Given the description of an element on the screen output the (x, y) to click on. 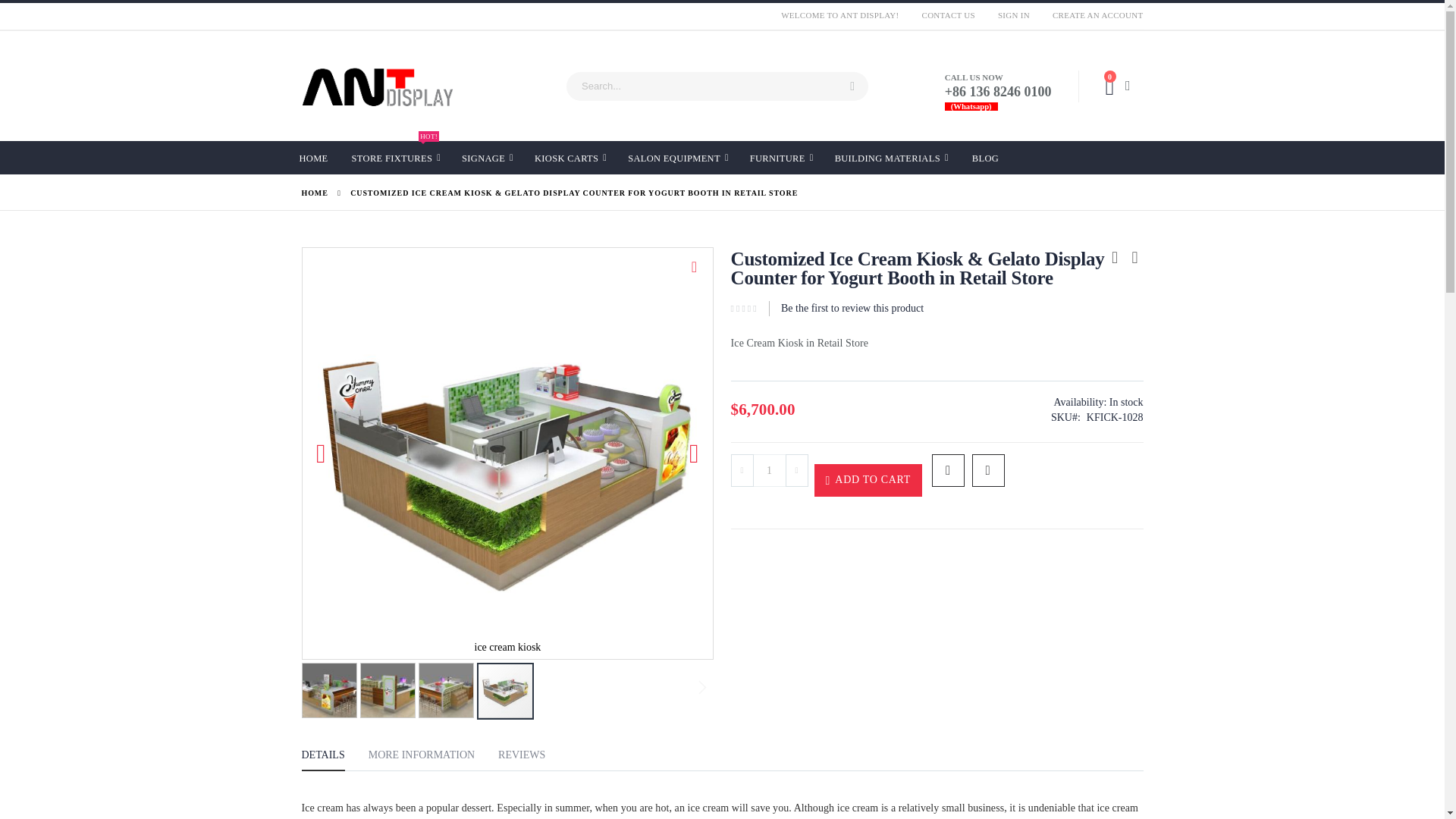
CREATE AN ACCOUNT (1091, 15)
Search (851, 86)
Store Fixtures (395, 157)
CONTACT US (949, 15)
HOME (312, 156)
1 (395, 157)
SIGN IN (769, 470)
Search (1014, 15)
